Given the description of an element on the screen output the (x, y) to click on. 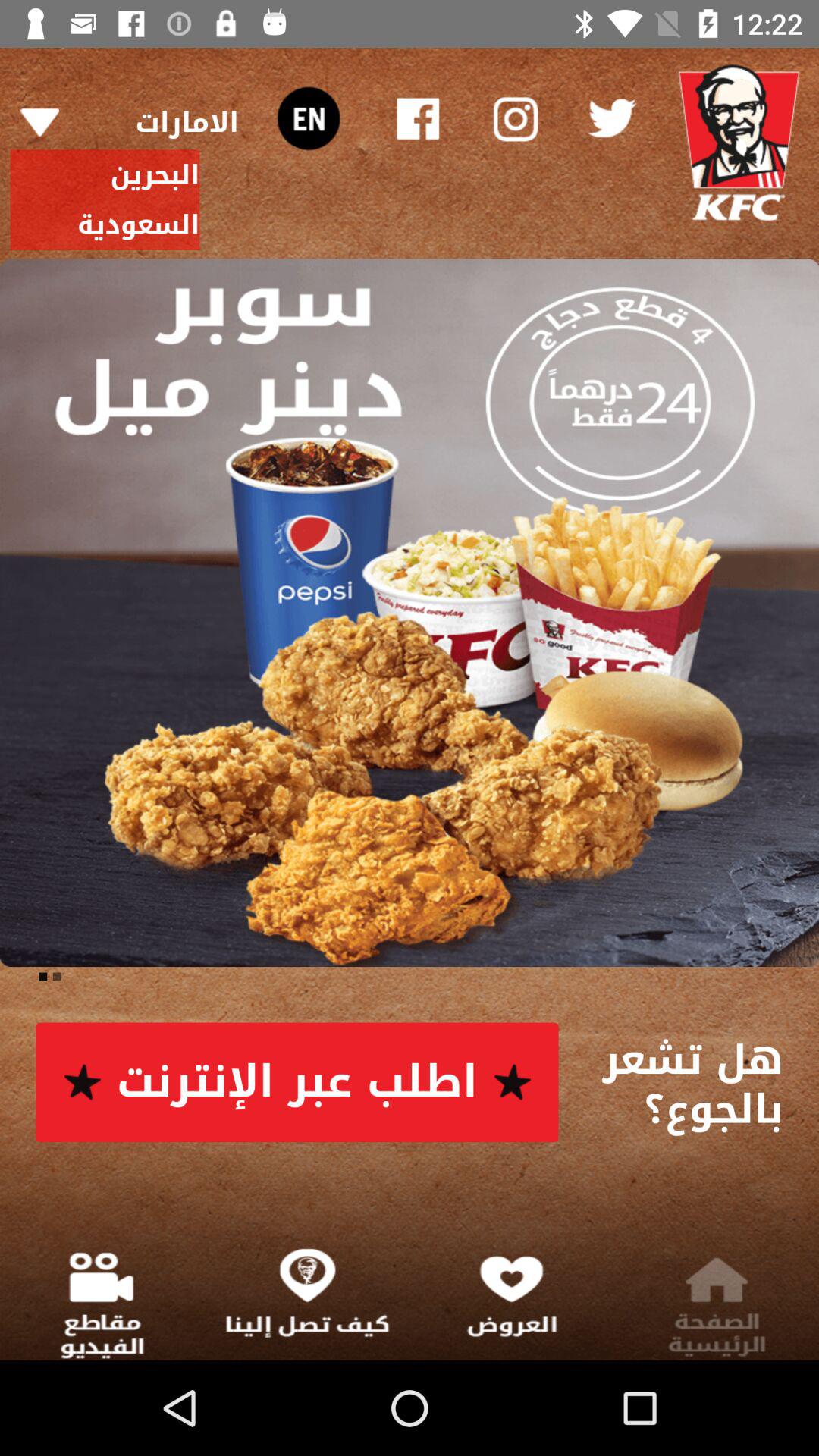
press the item at the center (409, 612)
